Given the description of an element on the screen output the (x, y) to click on. 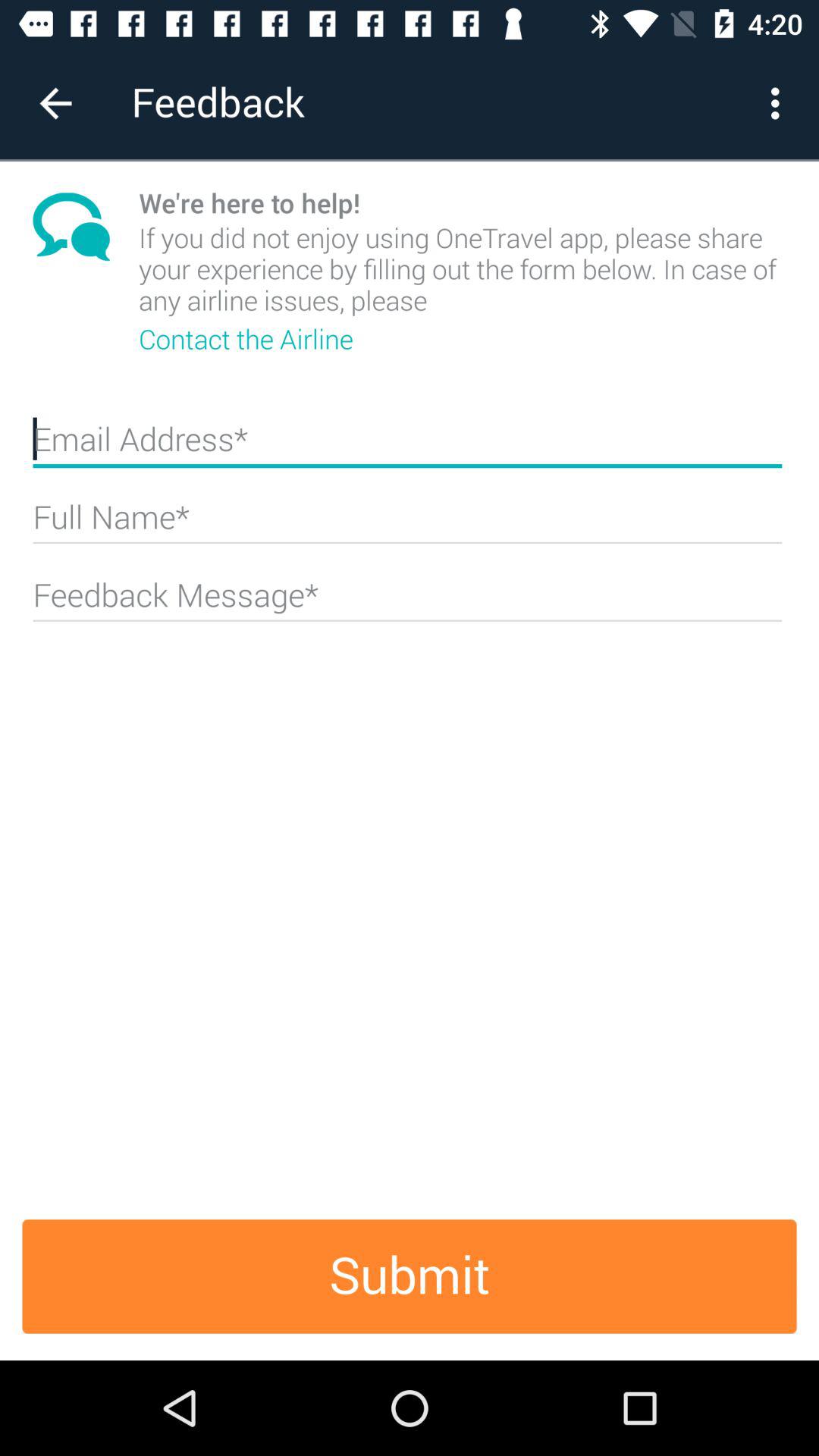
fill in name (407, 523)
